Given the description of an element on the screen output the (x, y) to click on. 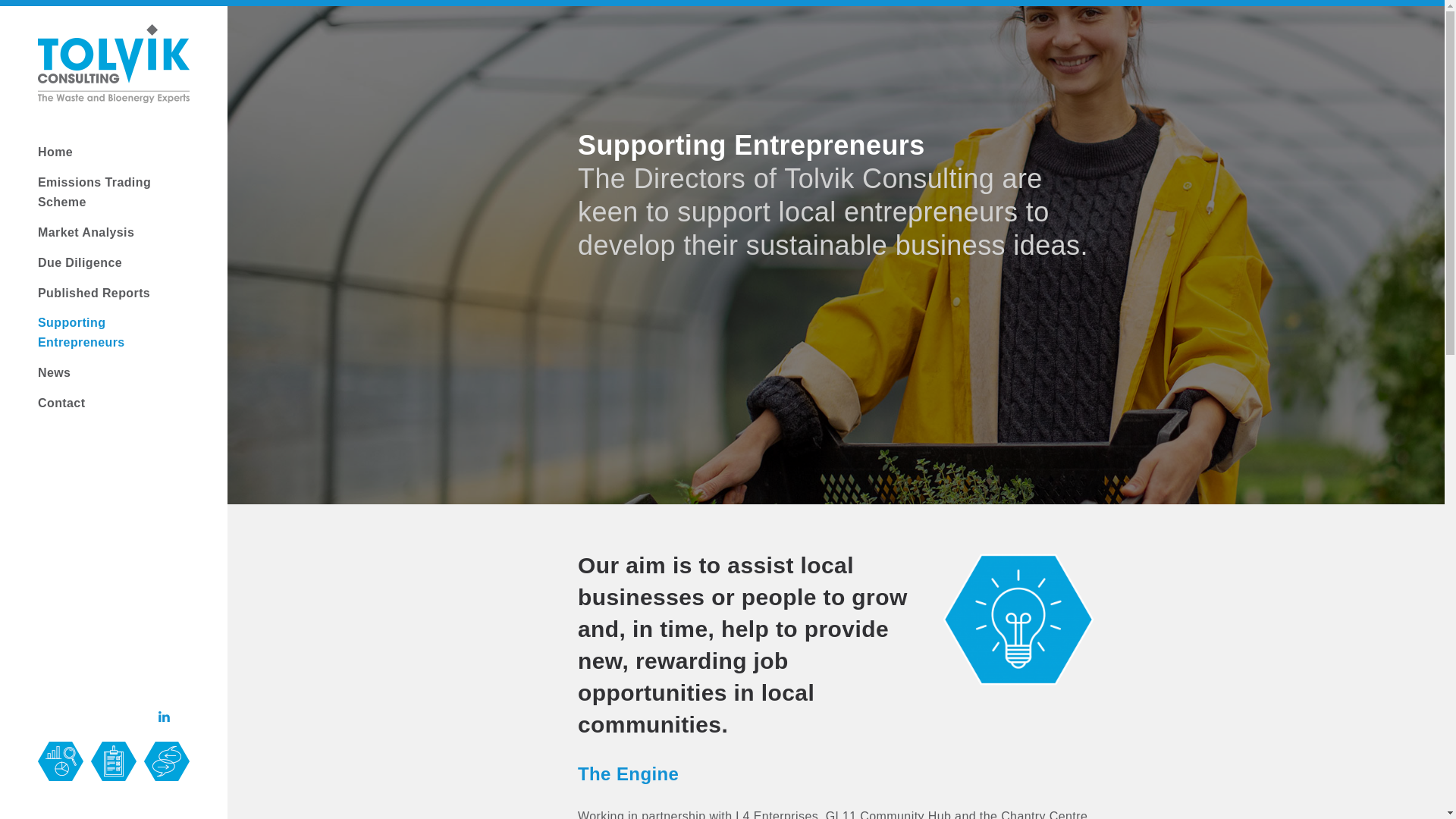
Emissions Trading Scheme (113, 192)
News (113, 373)
Contact (113, 403)
Due Diligence (113, 262)
Market Analysis (113, 232)
Tolvik (113, 63)
Tolvik (113, 100)
Published Reports (113, 293)
Supporting Entrepreneurs (113, 332)
Home (113, 152)
